Given the description of an element on the screen output the (x, y) to click on. 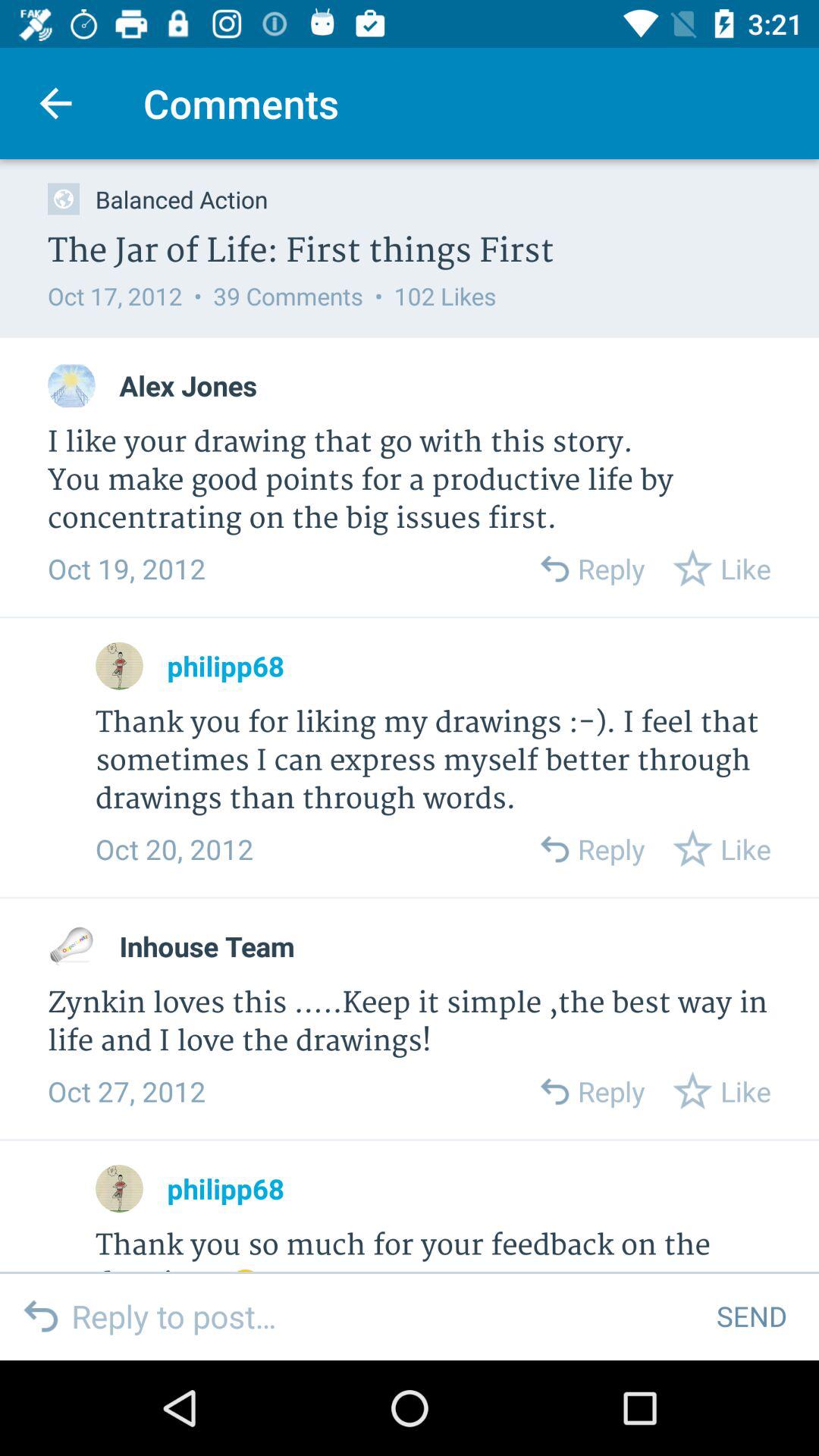
tap the alex jones icon (188, 385)
